Given the description of an element on the screen output the (x, y) to click on. 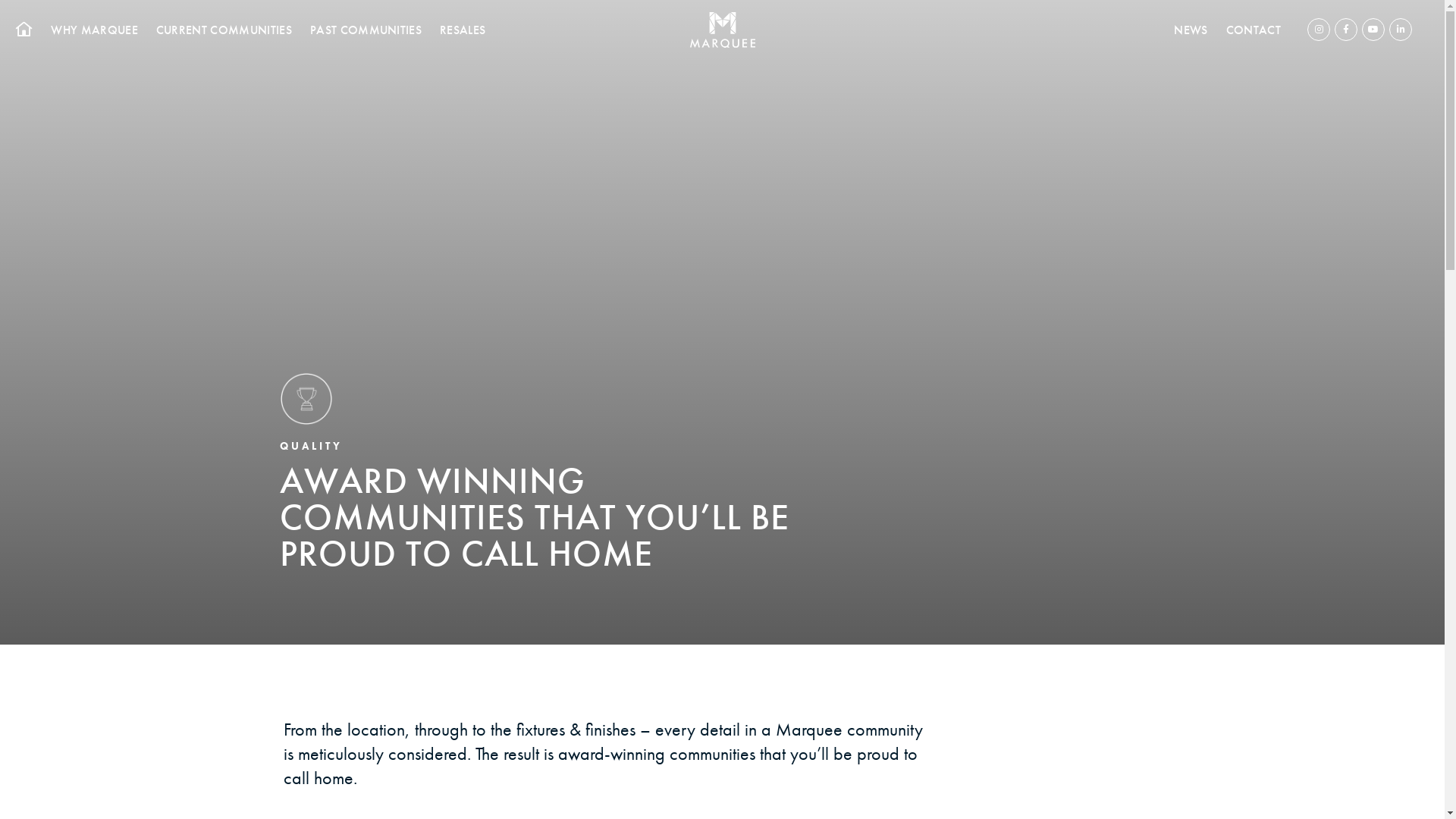
Skip to primary navigation Element type: text (0, 0)
Marquee Development Partners Element type: hover (722, 29)
